Given the description of an element on the screen output the (x, y) to click on. 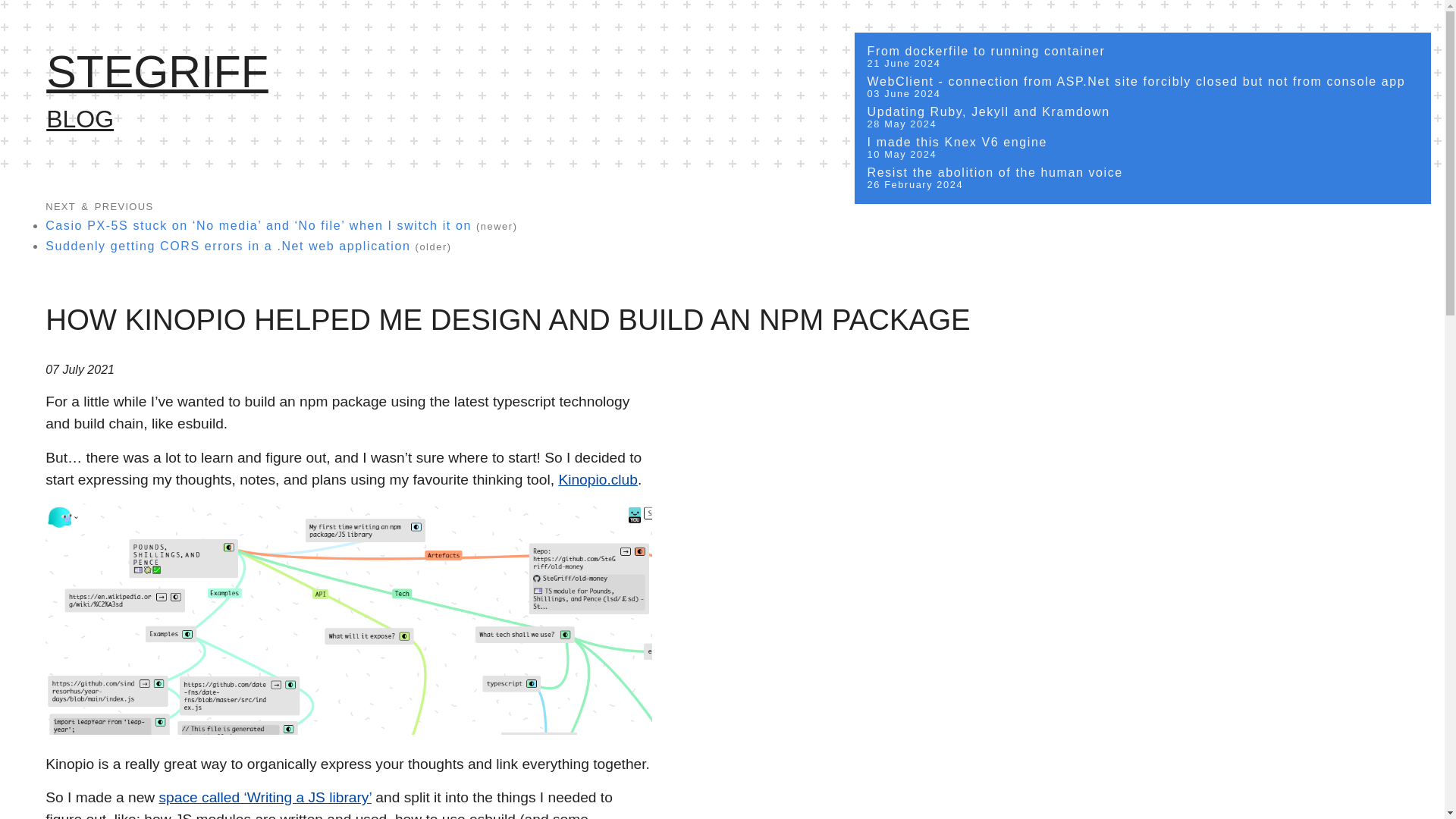
STEGRIFF (1142, 147)
BLOG (1142, 117)
Suddenly getting CORS errors in a .Net web application (156, 71)
Kinopio.club (1142, 57)
